Given the description of an element on the screen output the (x, y) to click on. 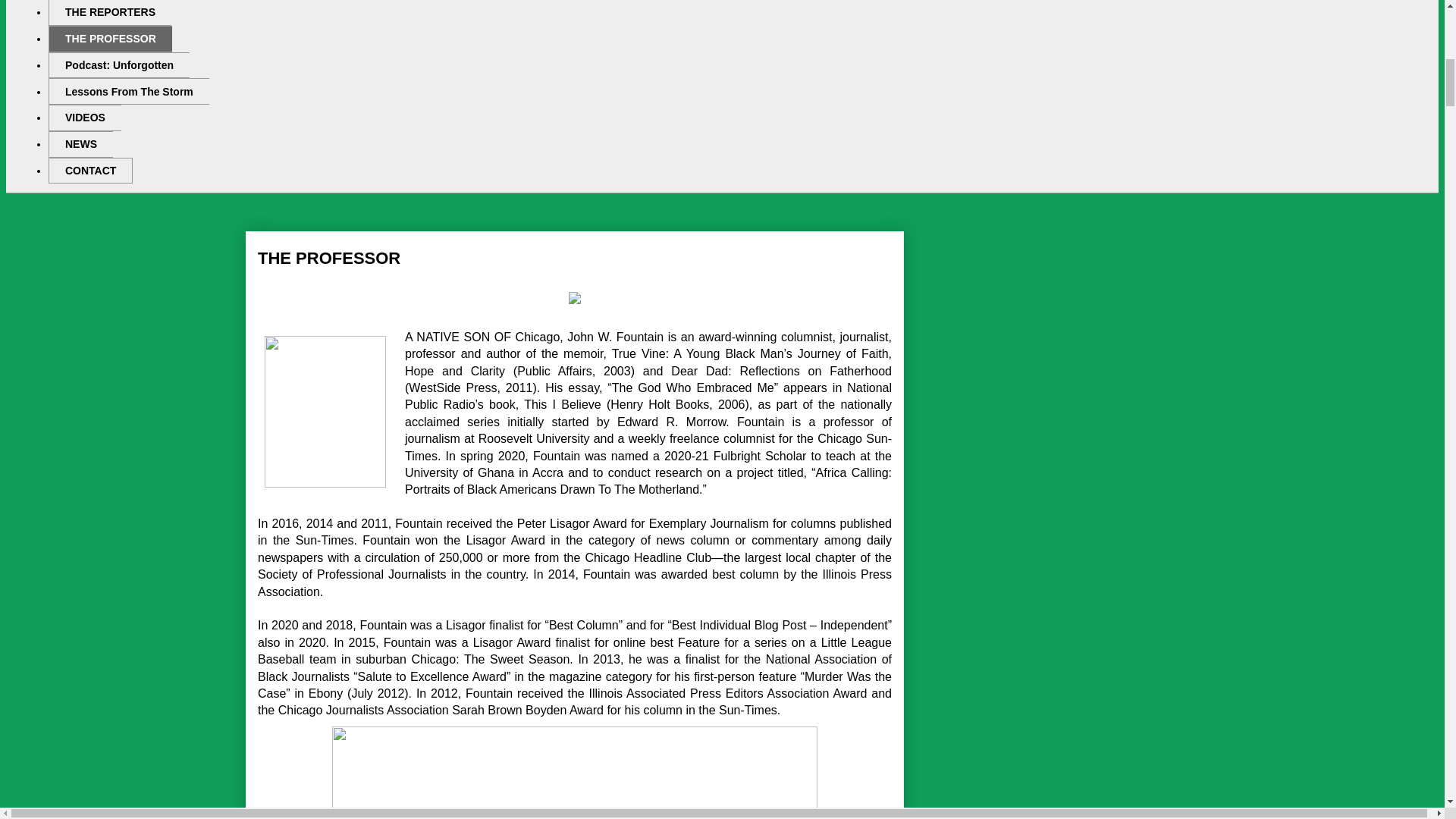
NEWS (80, 144)
THE REPORTERS (109, 12)
THE PROFESSOR (109, 38)
Lessons From The Storm (128, 90)
VIDEOS (84, 117)
CONTACT (90, 171)
Podcast: Unforgotten (118, 65)
